Given the description of an element on the screen output the (x, y) to click on. 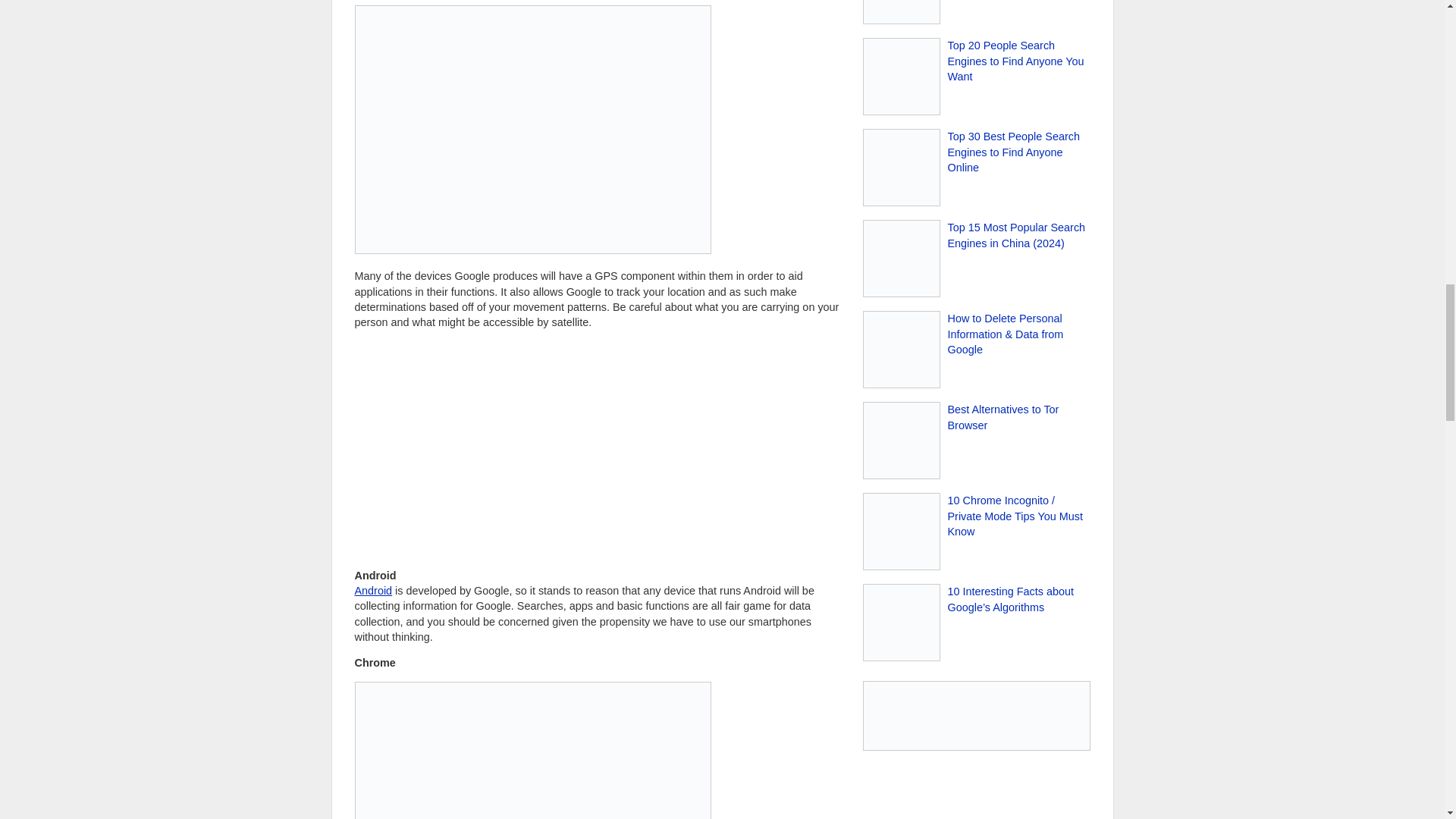
Android (374, 590)
